Given the description of an element on the screen output the (x, y) to click on. 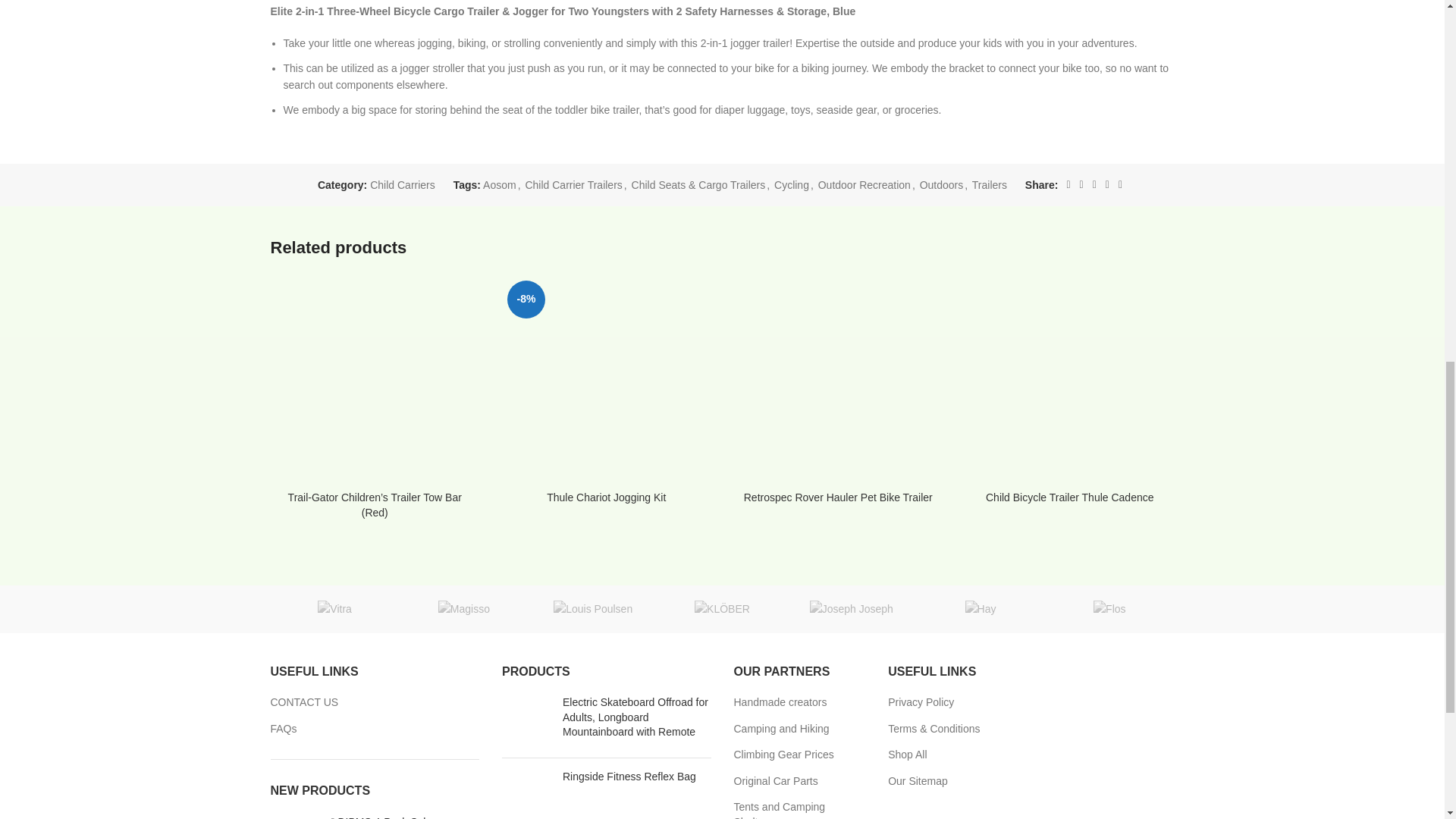
Magisso (463, 608)
Magisso (463, 608)
Vitra (333, 608)
Vitra (334, 608)
